Given the description of an element on the screen output the (x, y) to click on. 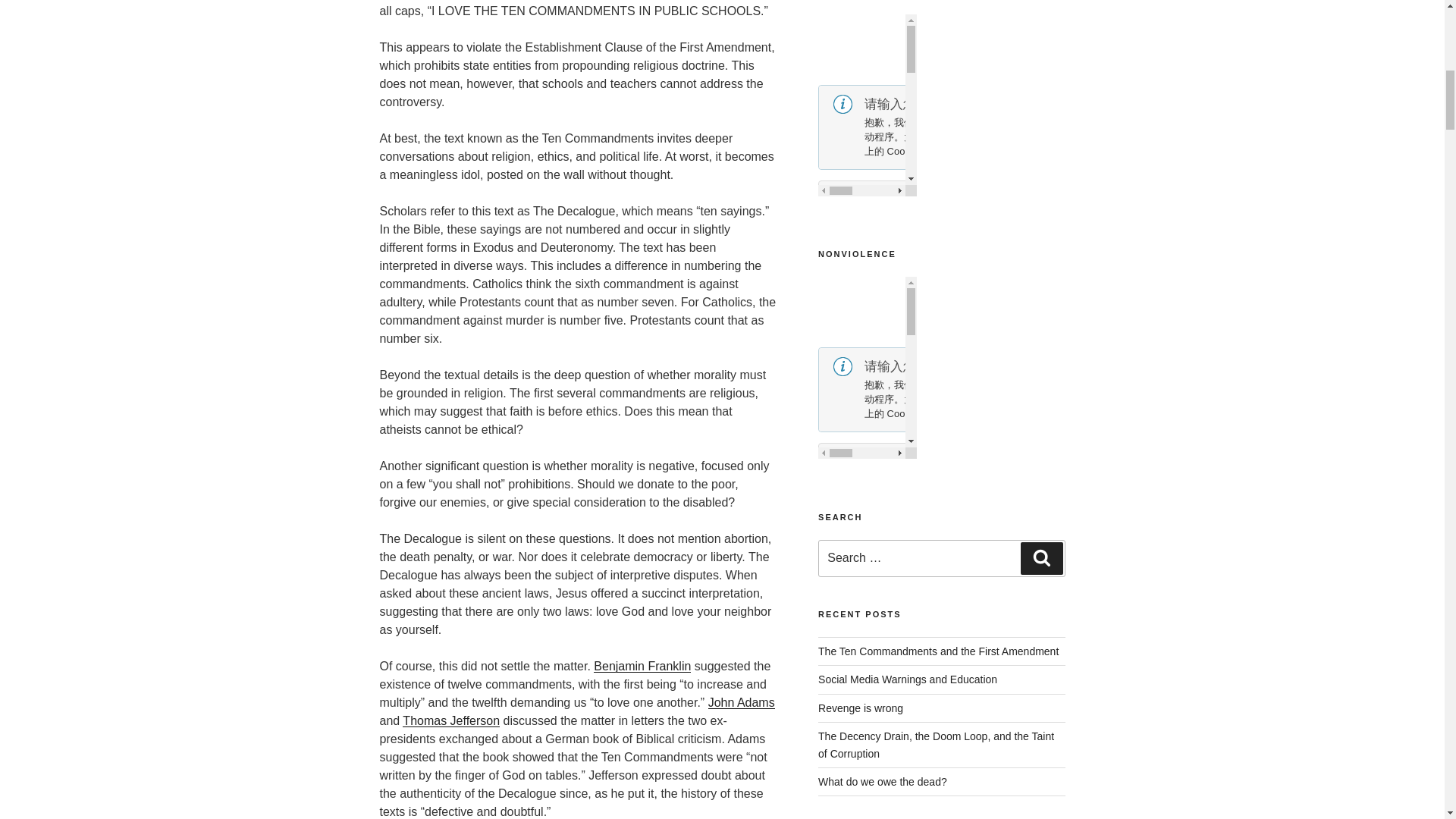
John Adams (740, 702)
Thomas Jefferson (451, 720)
Benjamin Franklin (642, 666)
